Given the description of an element on the screen output the (x, y) to click on. 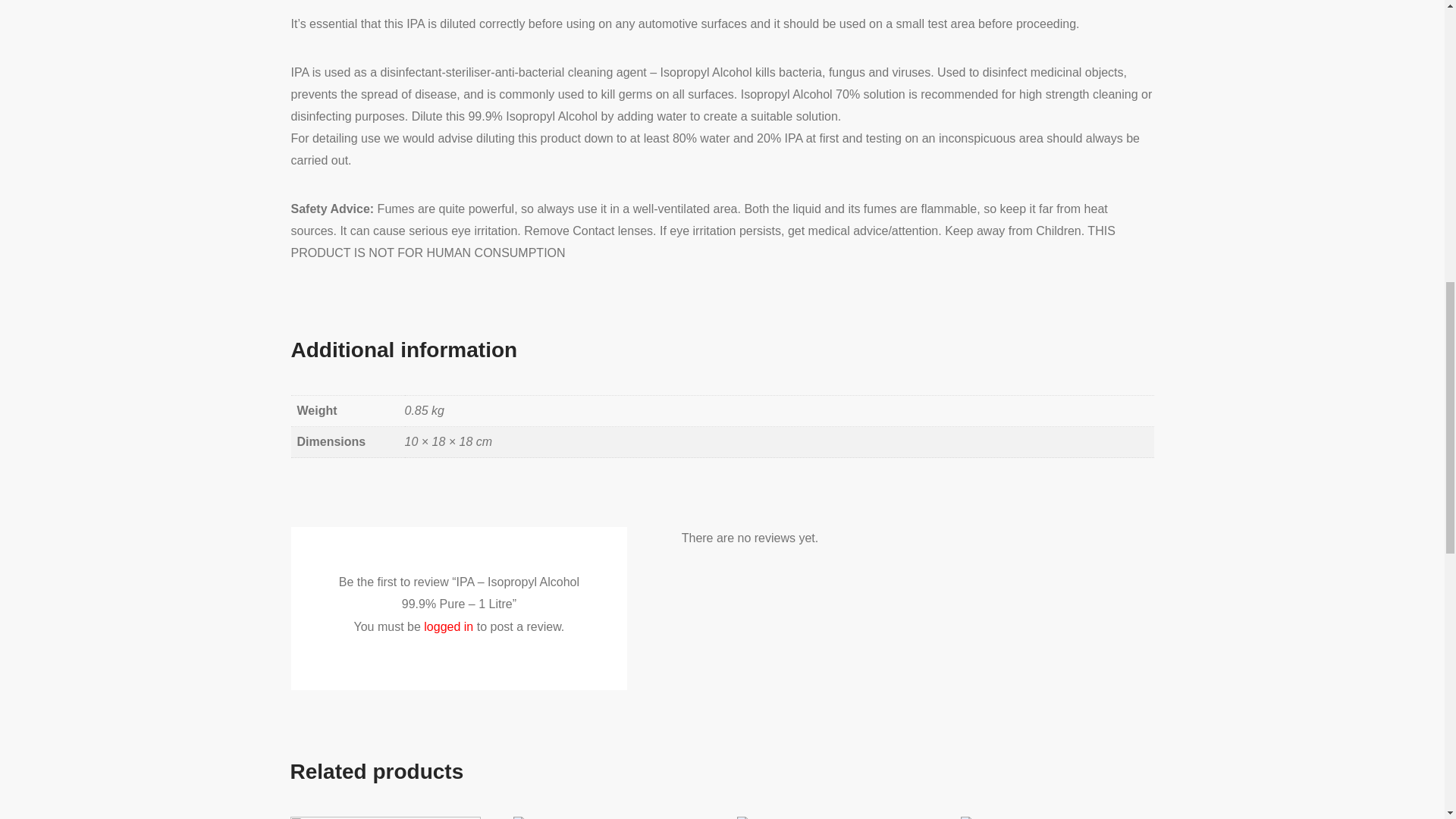
logged in (448, 626)
